Given the description of an element on the screen output the (x, y) to click on. 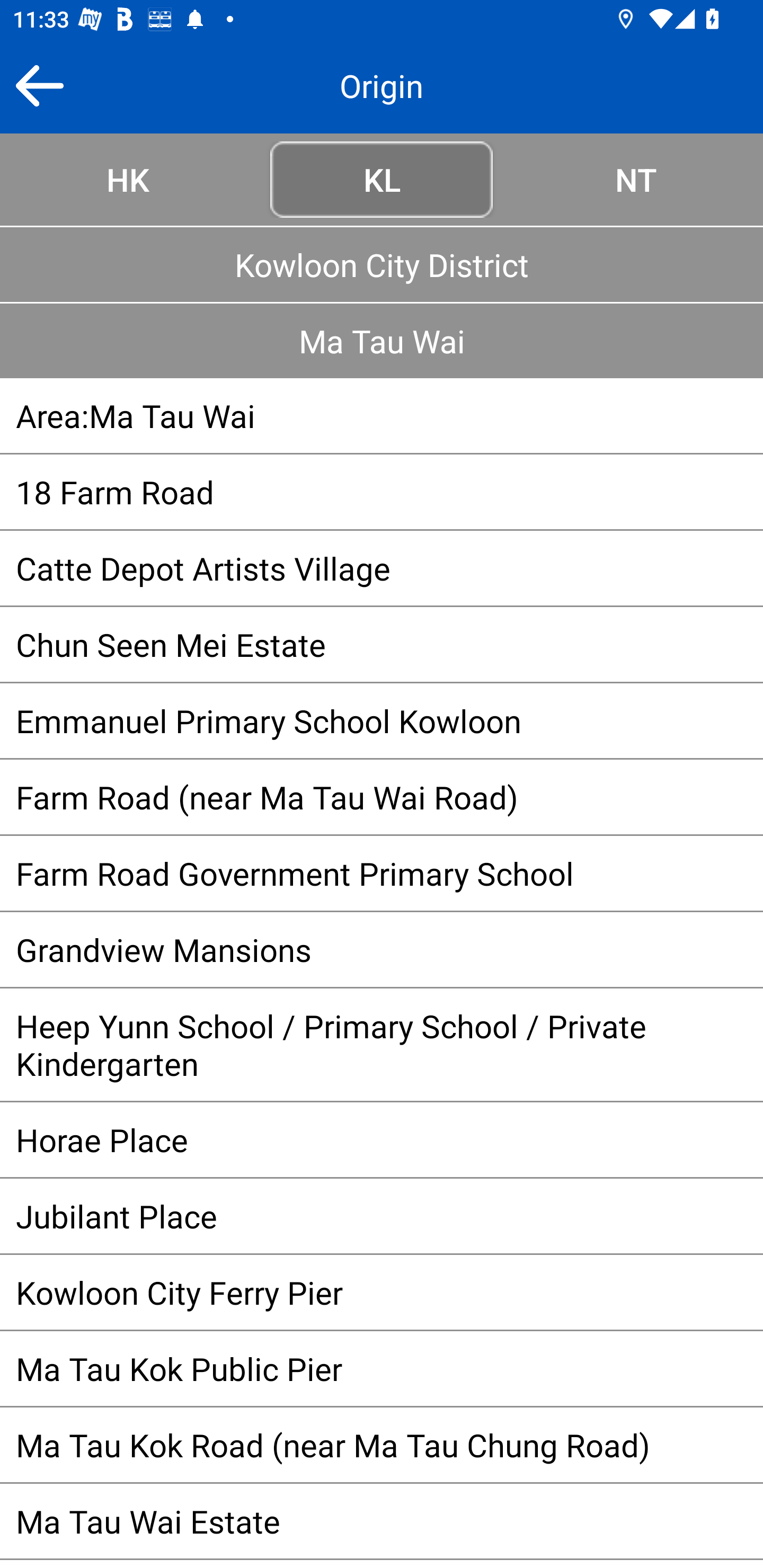
Back (39, 85)
HK (127, 179)
KL (381, 179)
NT (635, 179)
Kowloon City District (381, 263)
Ma Tau Wai (381, 339)
Area:Ma Tau Wai (381, 415)
18 Farm Road (381, 491)
Catte Depot Artists Village (381, 568)
Chun Seen Mei Estate (381, 644)
Emmanuel Primary School Kowloon (381, 720)
Farm Road (near Ma Tau Wai Road) (381, 796)
Farm Road Government Primary School (381, 873)
Grandview Mansions (381, 949)
Horae Place (381, 1139)
Jubilant Place (381, 1215)
Kowloon City Ferry Pier  (381, 1291)
Ma Tau Kok Public Pier (381, 1368)
Ma Tau Kok Road (near Ma Tau Chung Road) (381, 1444)
Ma Tau Wai Estate (381, 1520)
